Given the description of an element on the screen output the (x, y) to click on. 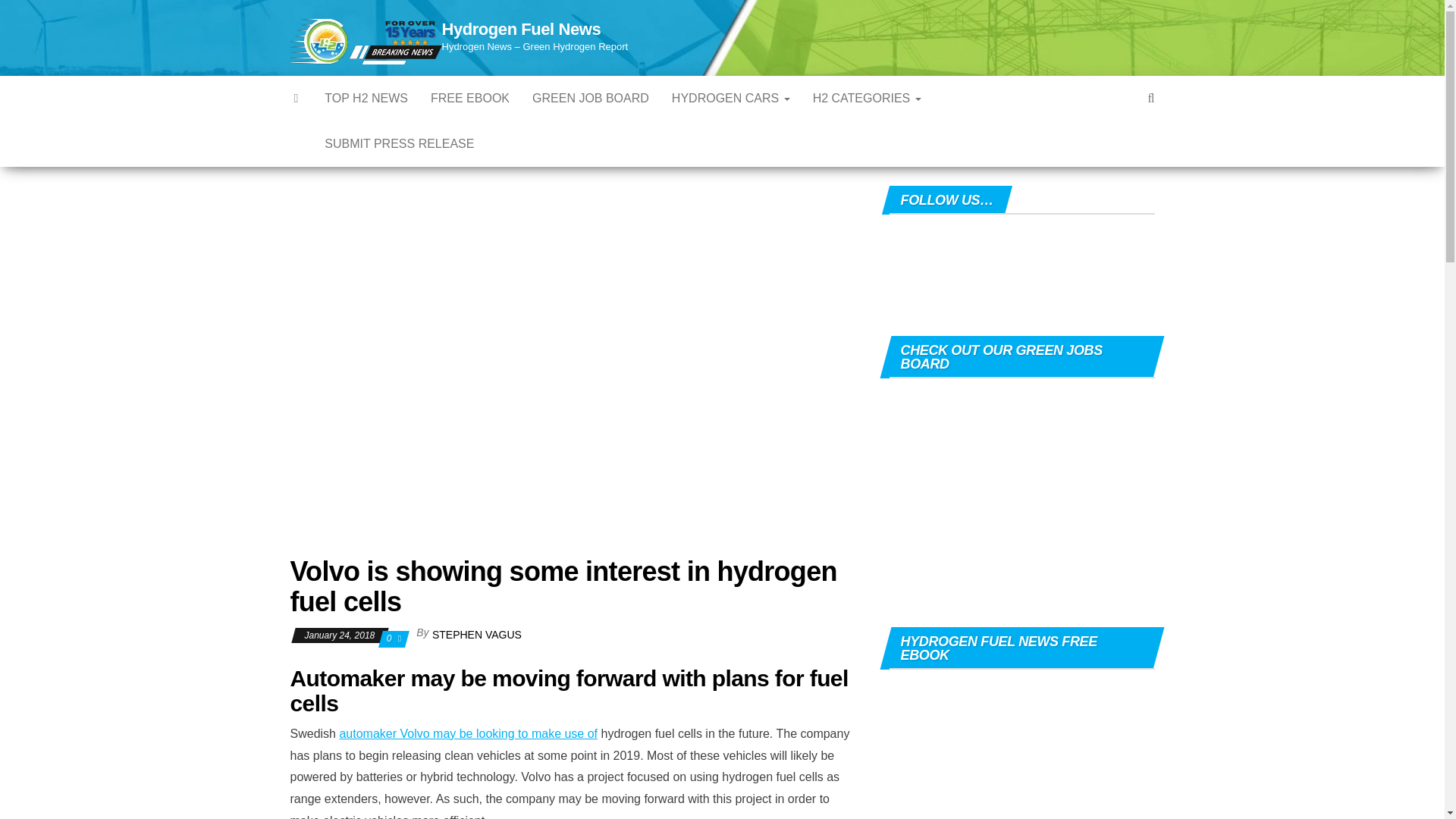
Green Job Board (591, 98)
Hydrogen Fuel News (520, 28)
Free ebook (470, 98)
Hydrogen Fuel News (296, 98)
HYDROGEN CARS (731, 98)
Hydrogen Cars (731, 98)
FREE EBOOK (470, 98)
H2 CATEGORIES (867, 98)
Top H2 News (366, 98)
TOP H2 NEWS (366, 98)
GREEN JOB BOARD (591, 98)
